Given the description of an element on the screen output the (x, y) to click on. 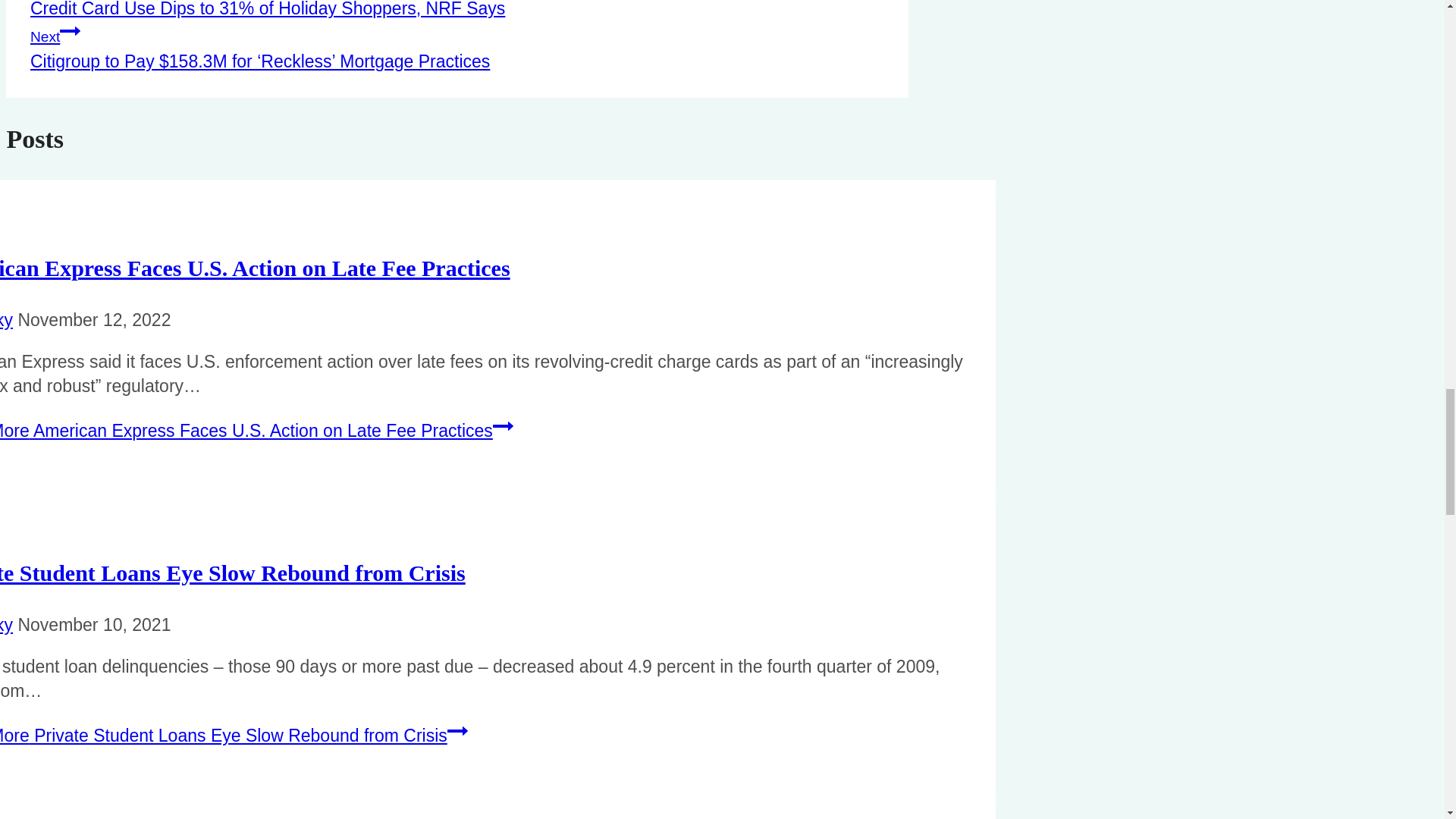
Continue (69, 30)
American Express Faces U.S. Action on Late Fee Practices (255, 267)
Private Student Loans Eye Slow Rebound from Crisis (232, 572)
Continue (456, 731)
Continue (503, 425)
